Given the description of an element on the screen output the (x, y) to click on. 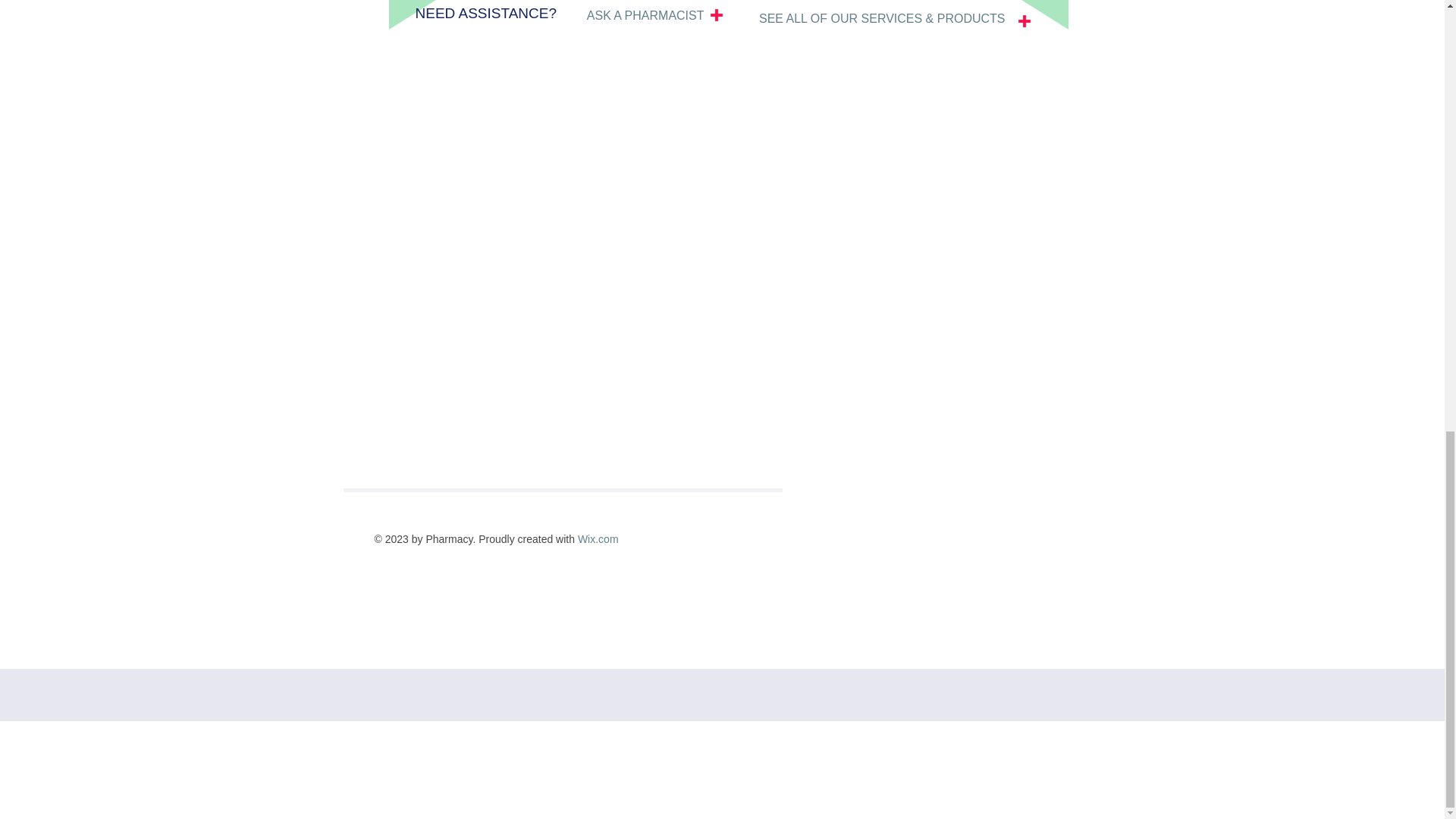
ASK A PHARMACIST (644, 15)
Wix.com (598, 539)
